Given the description of an element on the screen output the (x, y) to click on. 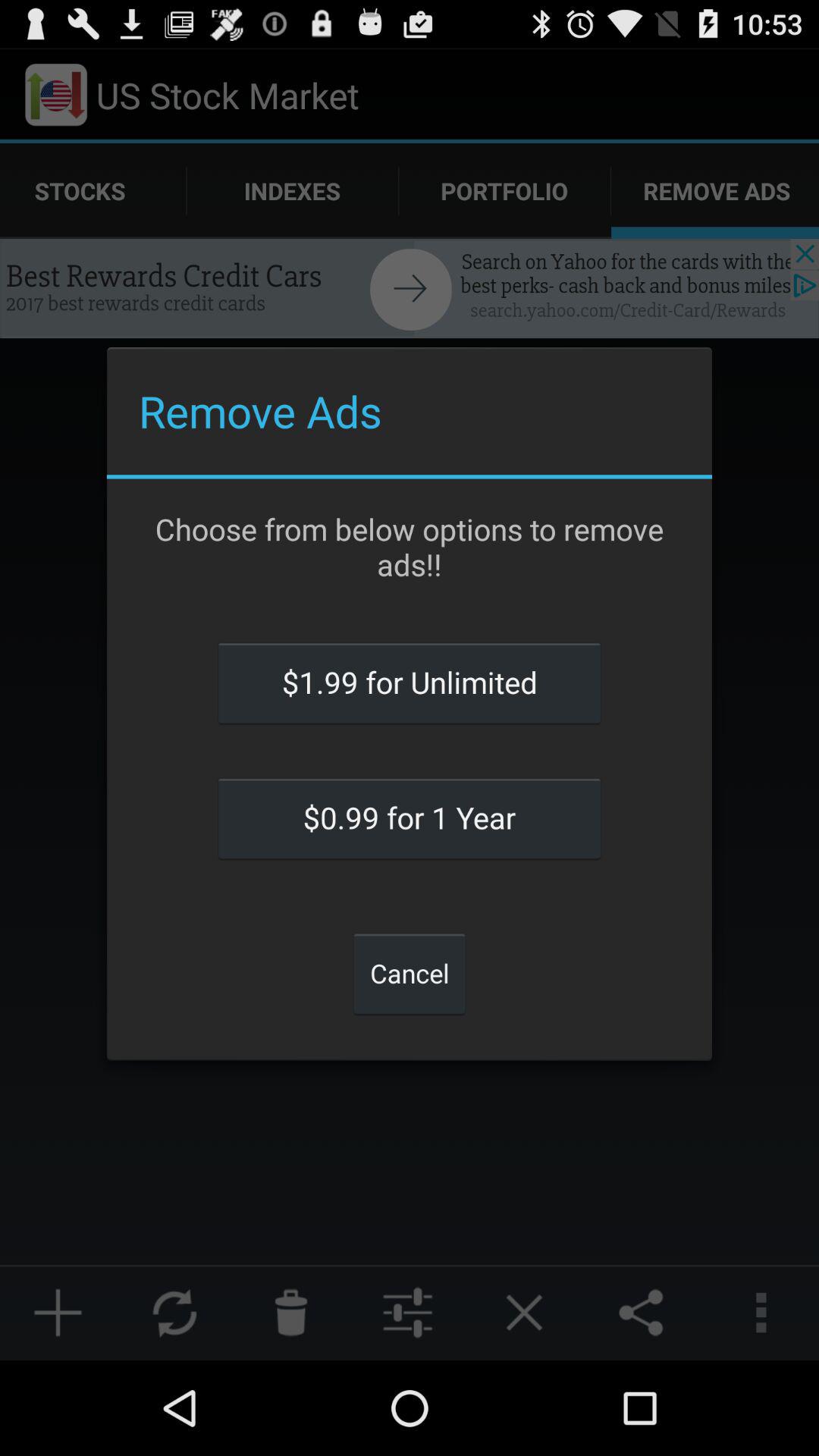
turn on item below 0 99 for item (409, 972)
